Given the description of an element on the screen output the (x, y) to click on. 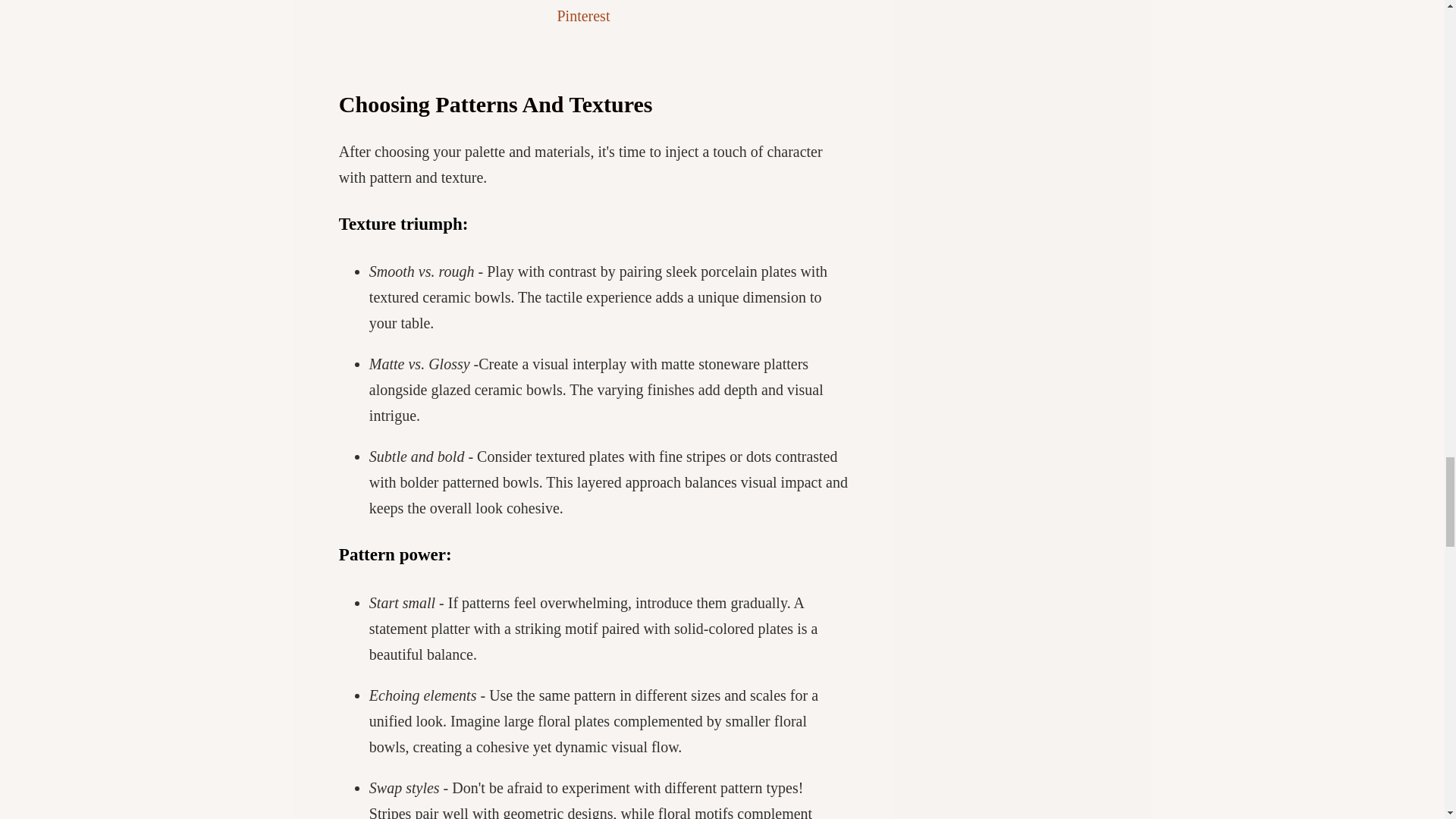
Pinterest (583, 15)
